Given the description of an element on the screen output the (x, y) to click on. 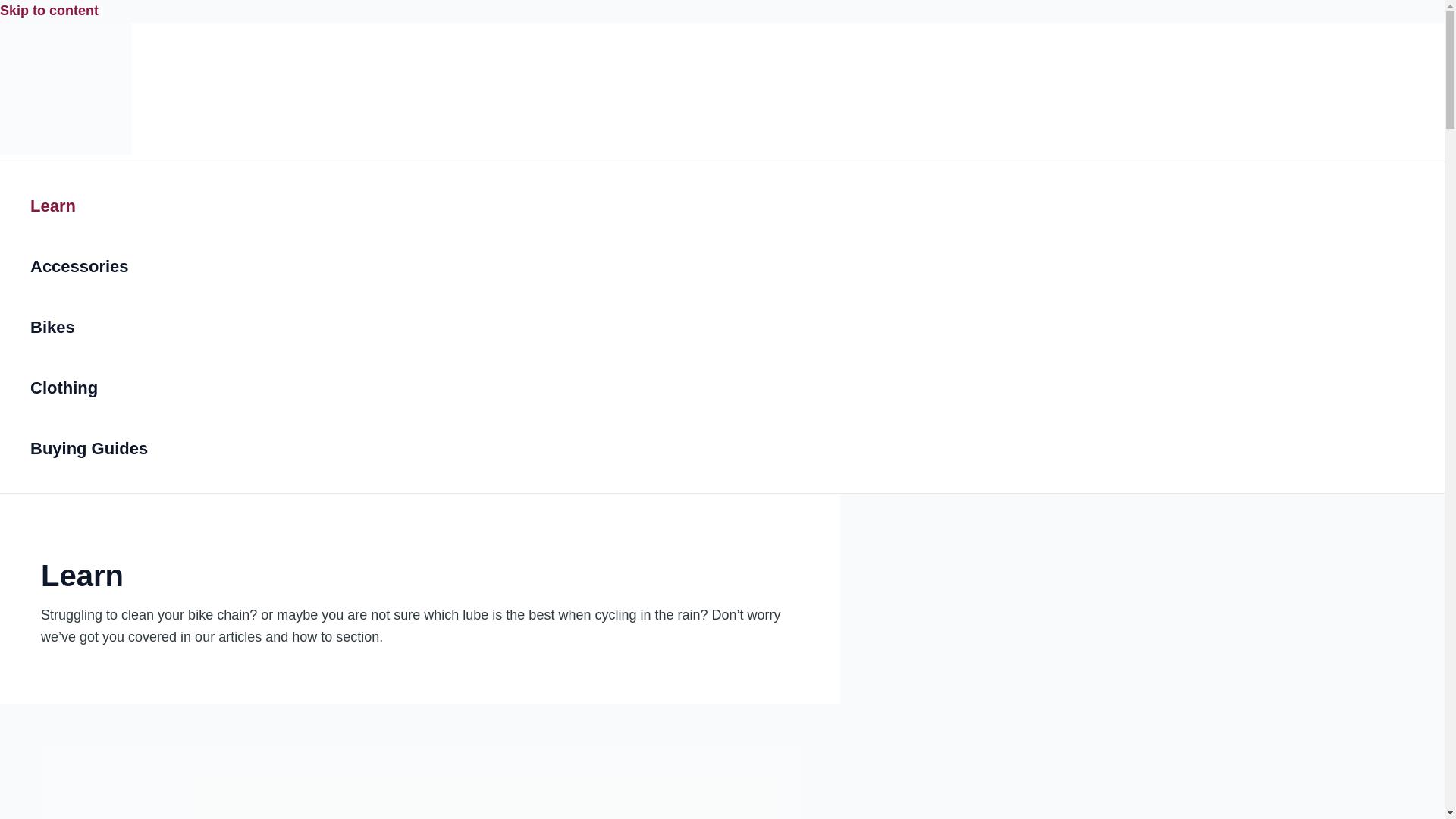
Accessories (89, 266)
Buying Guides (89, 448)
Skip to content (49, 10)
Skip to content (49, 10)
Clothing (89, 387)
Bikes (89, 327)
Learn (89, 206)
